Given the description of an element on the screen output the (x, y) to click on. 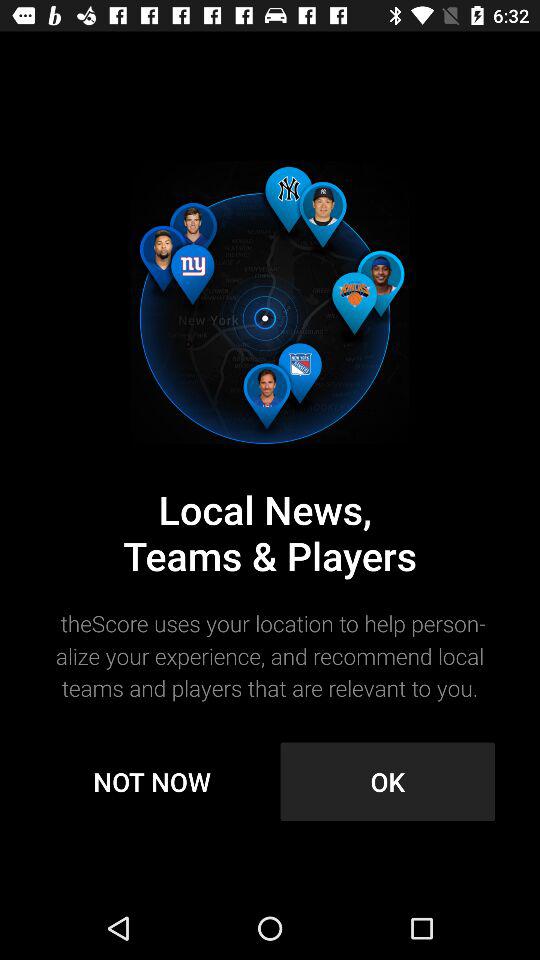
click the not now at the bottom left corner (152, 781)
